Given the description of an element on the screen output the (x, y) to click on. 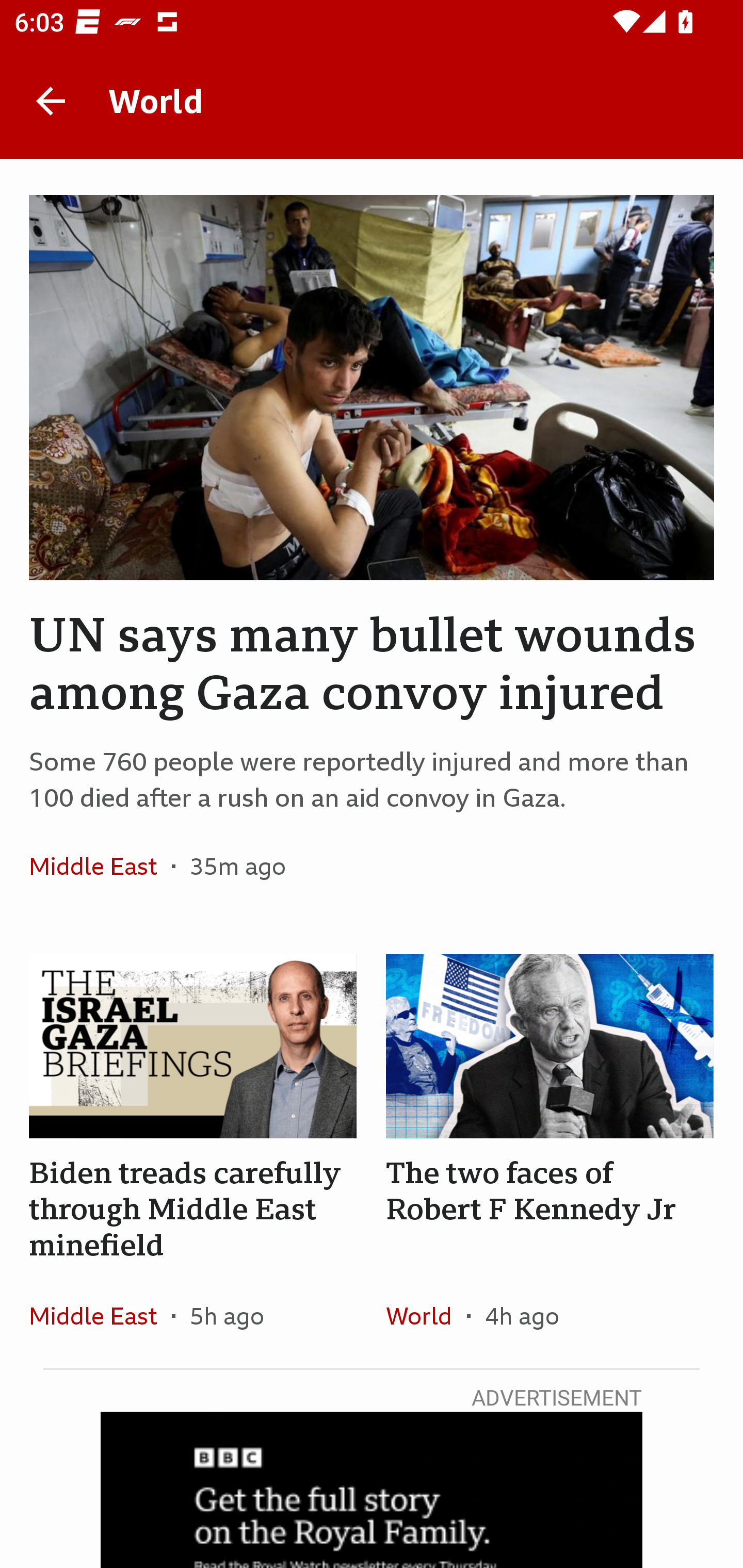
Back (50, 101)
Middle East In the section Middle East (99, 865)
Middle East In the section Middle East (99, 1315)
World In the section World (425, 1315)
